Given the description of an element on the screen output the (x, y) to click on. 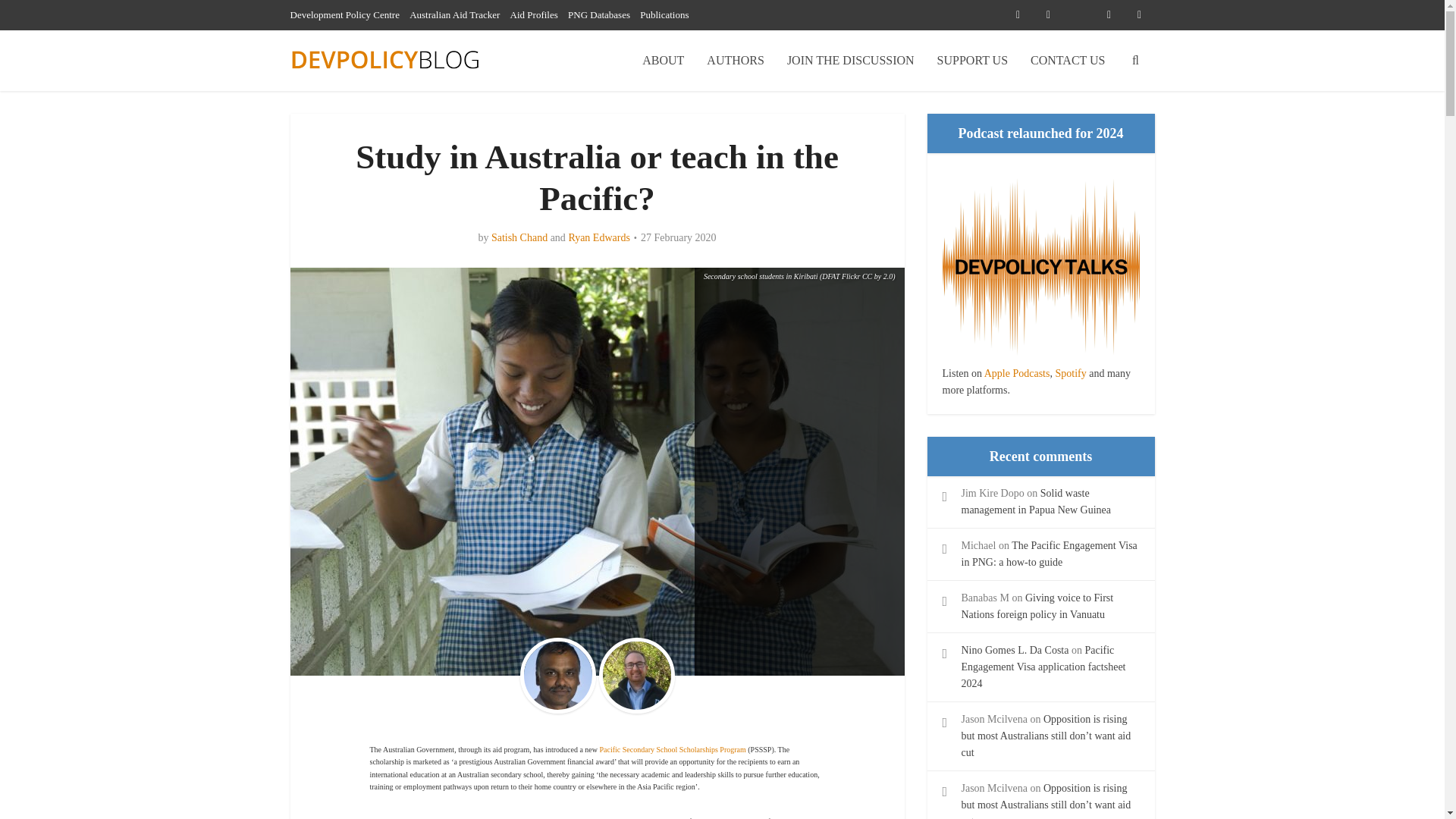
Australian Aid Tracker (454, 14)
AUTHORS (735, 60)
Aid Profiles (534, 14)
CONTACT US (1067, 60)
Publications (664, 14)
JOIN THE DISCUSSION (851, 60)
PNG Databases (598, 14)
Satish Chand (519, 237)
ABOUT (662, 60)
Ryan Edwards (597, 237)
Pacific Secondary School Scholarships Program (671, 749)
SUPPORT US (972, 60)
Development Policy Centre (343, 14)
